Given the description of an element on the screen output the (x, y) to click on. 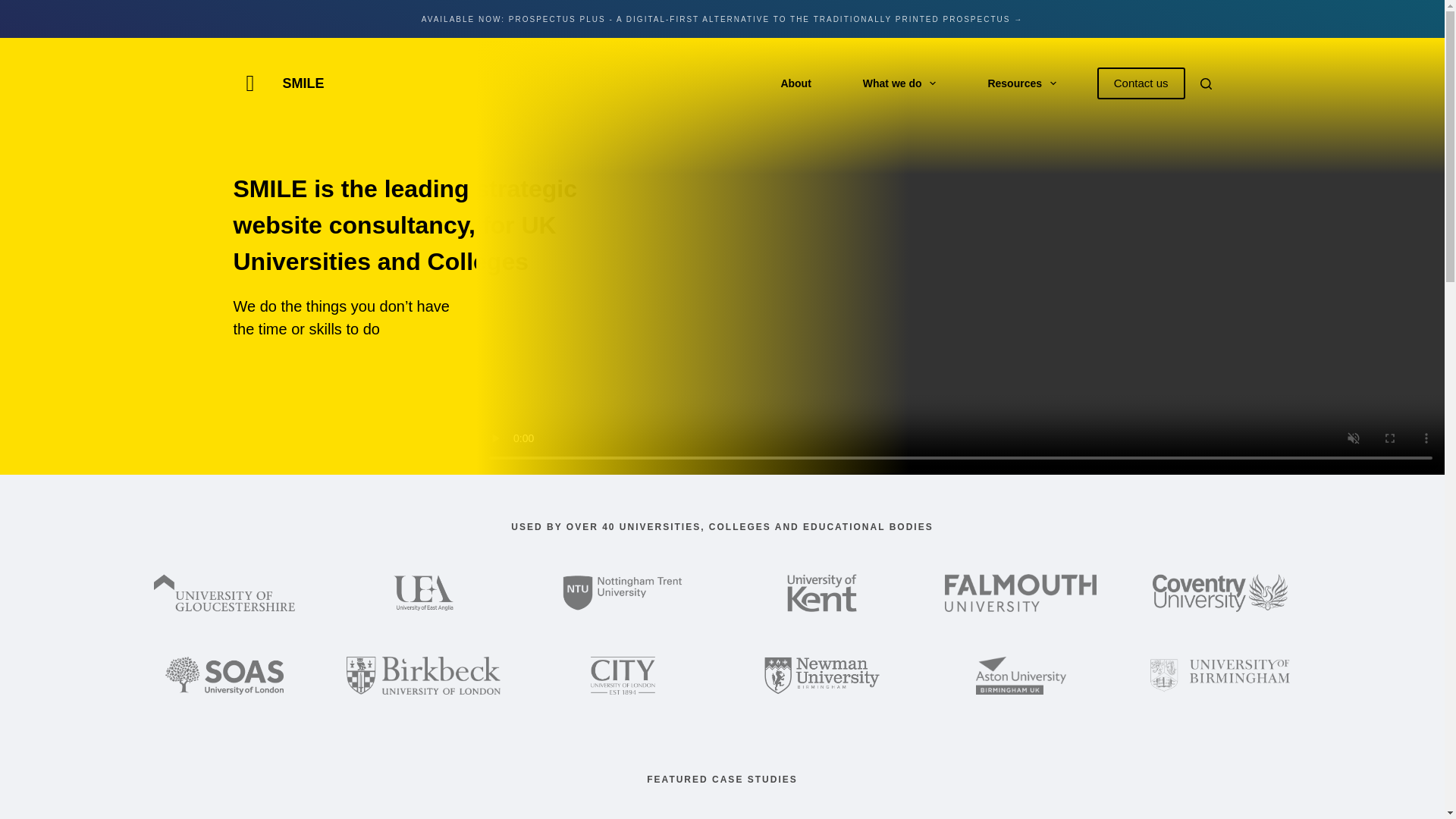
Home 11 (1020, 592)
About (794, 82)
Home 18 (1220, 675)
Home 17 (1020, 675)
Home 12 (1220, 592)
Home 8 (423, 592)
Home 14 (423, 674)
Home 9 (622, 592)
Home 15 (623, 675)
Home 10 (821, 592)
Home 7 (224, 592)
Home 13 (224, 675)
Home 16 (821, 675)
SMILE (302, 83)
Skip to content (15, 7)
